Given the description of an element on the screen output the (x, y) to click on. 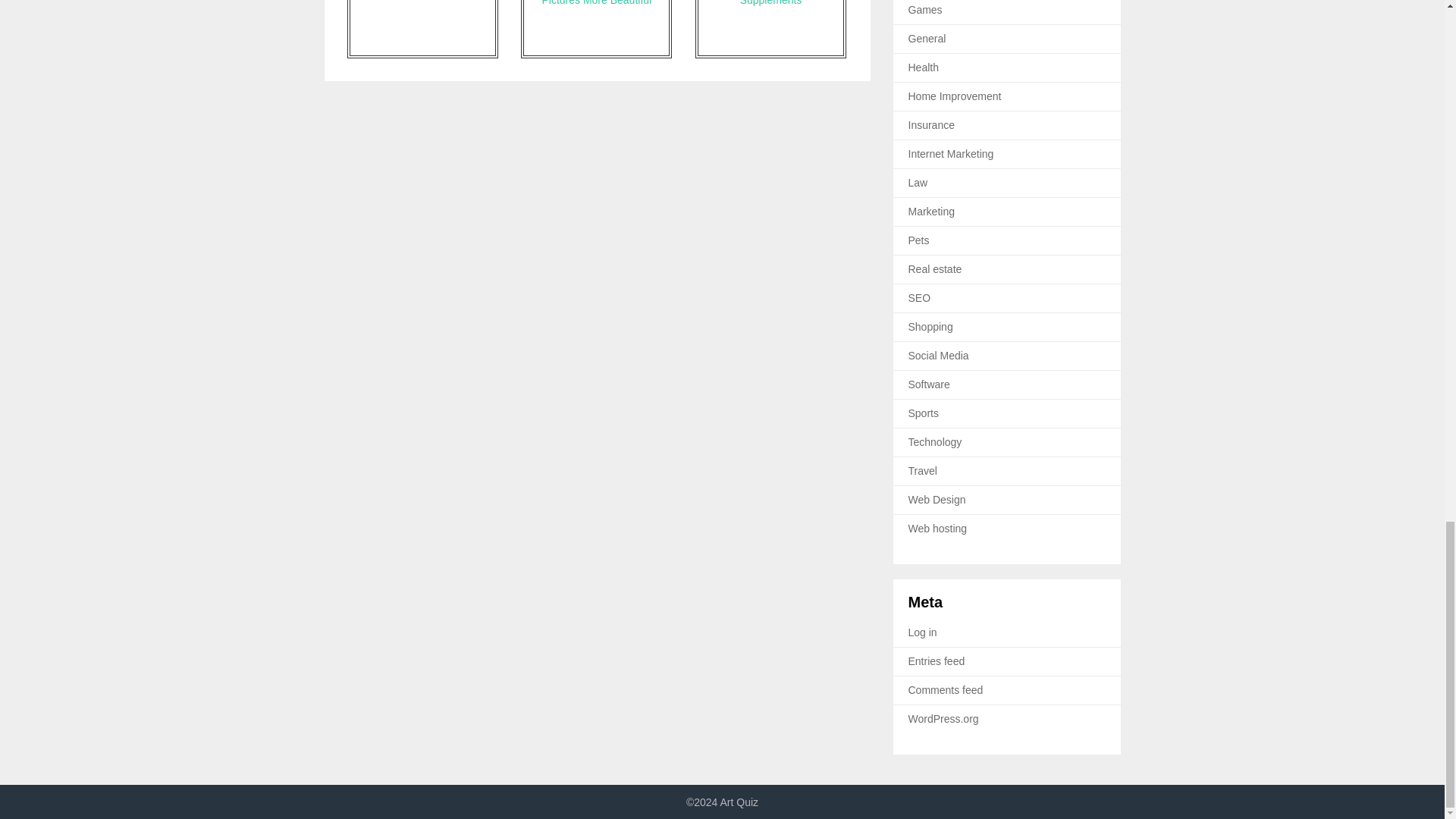
The Ultimate Guide to Heart Health Supplements (770, 29)
General (927, 38)
A Wonderful Way To Make Your Wedding Pictures More Beautiful (596, 29)
The Best Gym Equipment for Your Home (422, 29)
Insurance (931, 124)
Pets (919, 240)
The Ultimate Guide to Heart Health Supplements (770, 29)
Law (918, 182)
The Best Gym Equipment for Your Home (422, 29)
Health (923, 67)
